Given the description of an element on the screen output the (x, y) to click on. 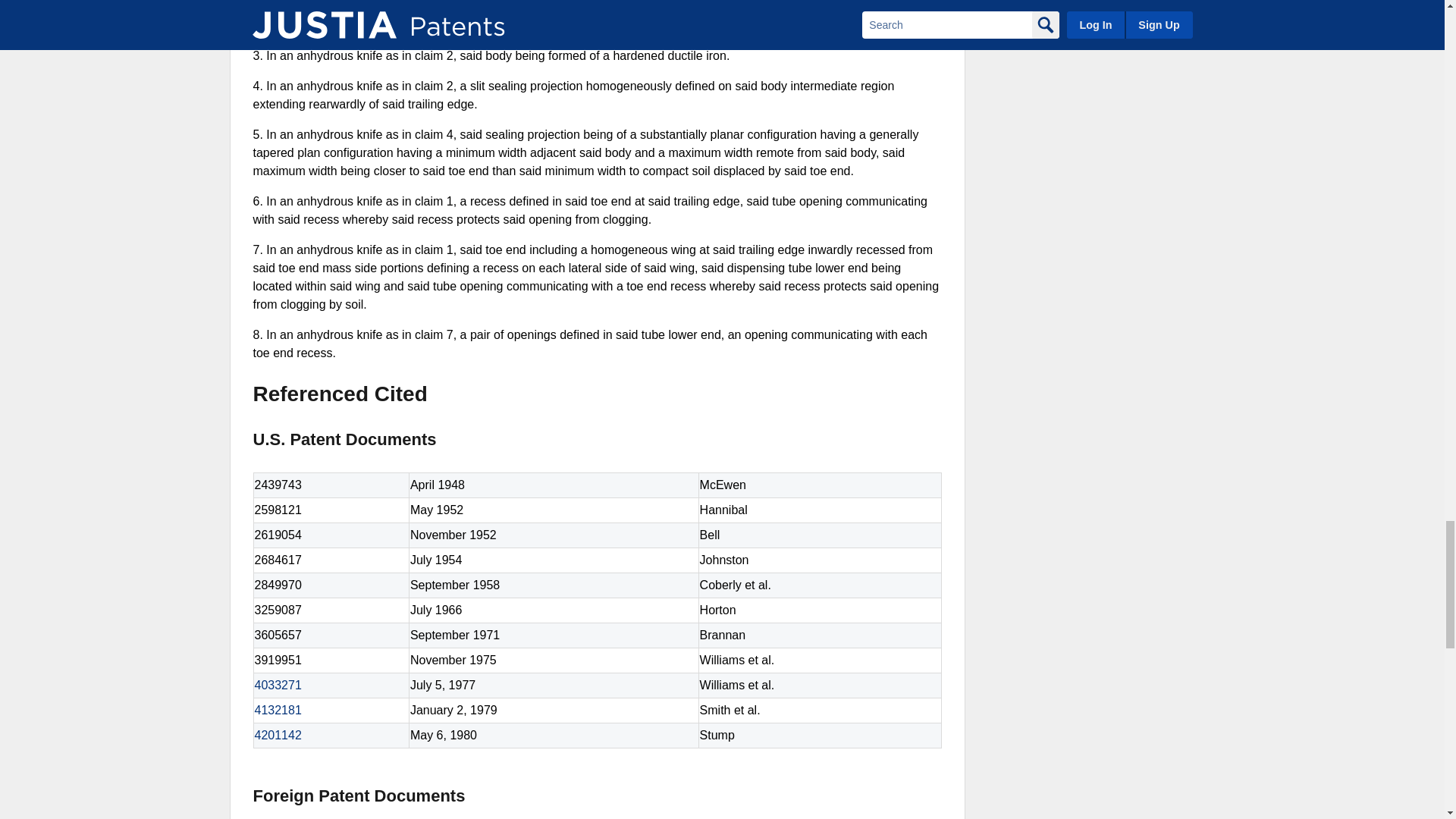
4033271 (277, 684)
